Given the description of an element on the screen output the (x, y) to click on. 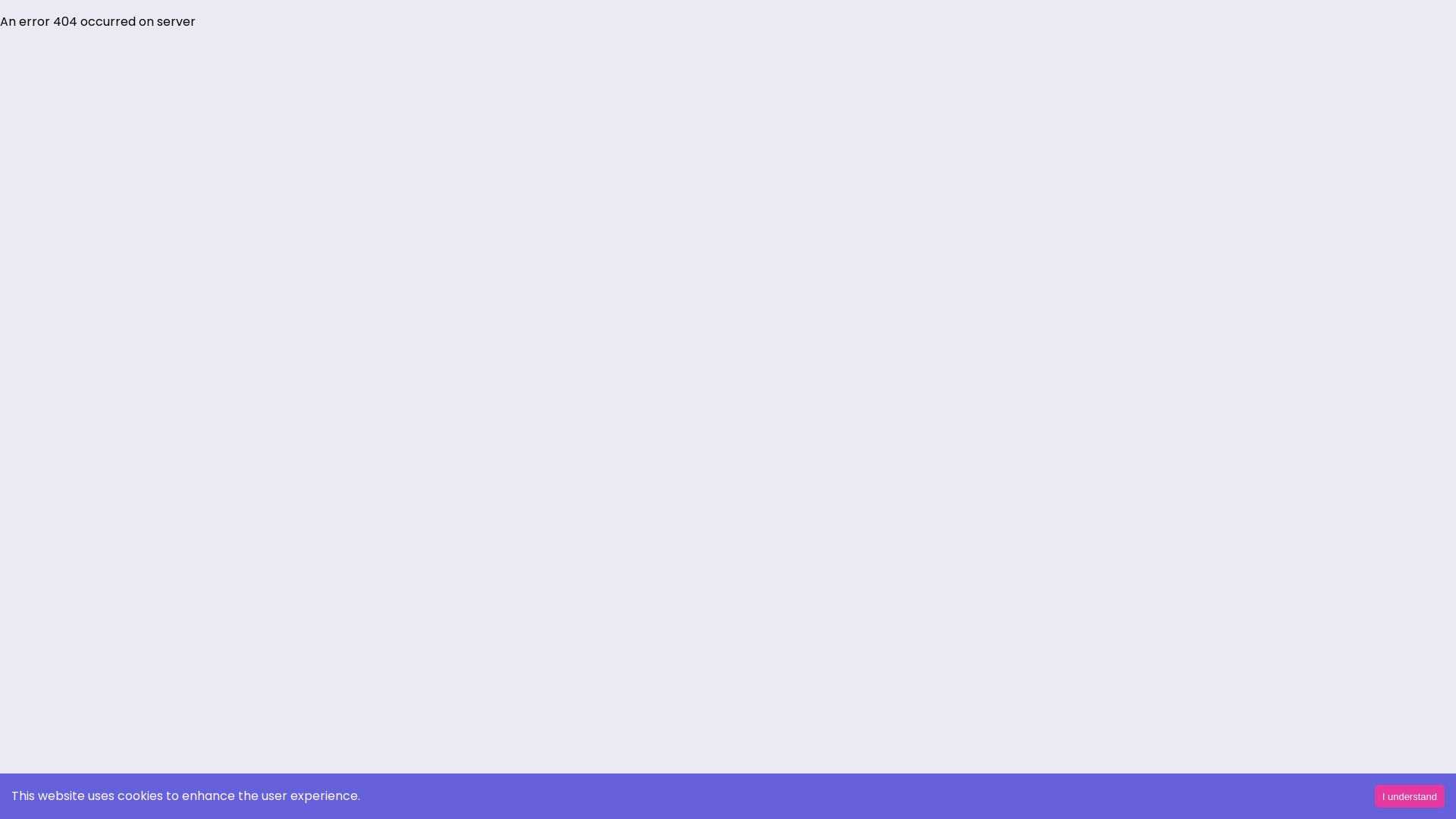
I understand Element type: text (1409, 795)
